Given the description of an element on the screen output the (x, y) to click on. 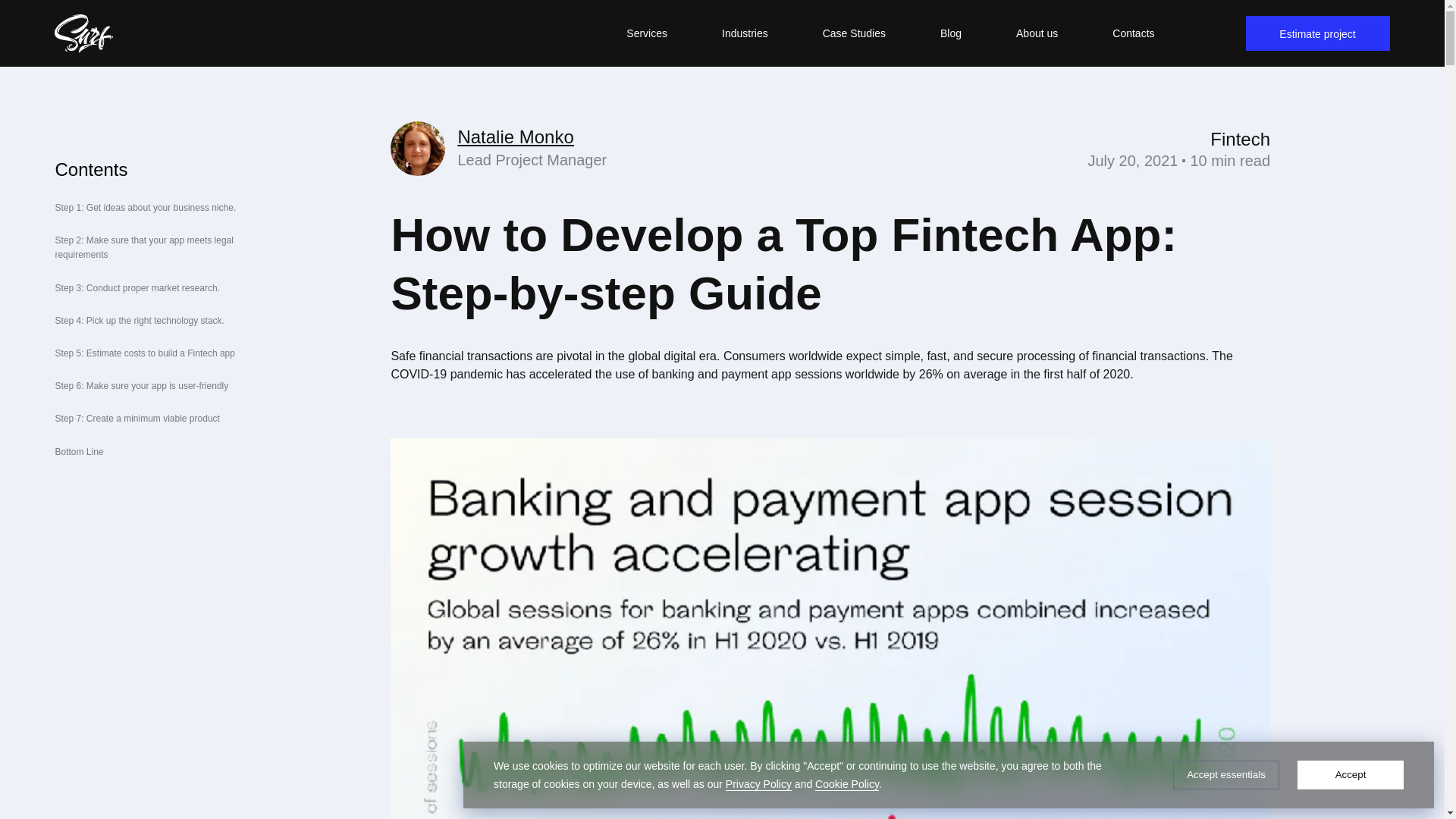
Step 4: Pick up the right technology stack. (139, 320)
Step 1: Get ideas about your business niche. (145, 207)
Estimate project (1318, 32)
Contacts (1133, 33)
Step 5: Estimate costs to build a Fintech app (144, 353)
Step 2: Make sure that your app meets legal requirements (143, 247)
About us (1037, 33)
Step 6: Make sure your app is user-friendly (141, 385)
Industries (745, 33)
Step 3: Conduct proper market research.  (138, 287)
Services (646, 33)
Case Studies (854, 33)
